Given the description of an element on the screen output the (x, y) to click on. 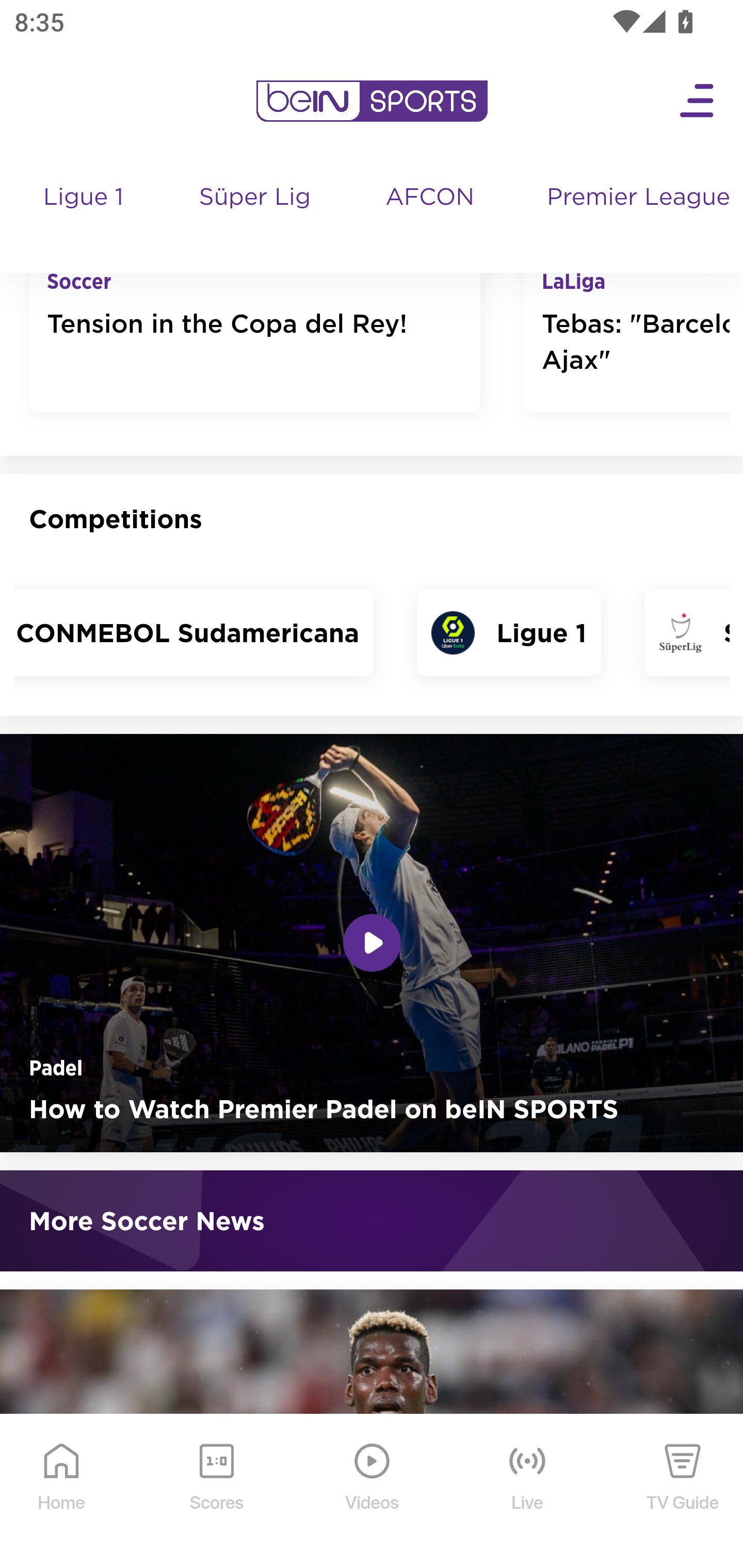
en-us?platform=mobile_android bein logo (371, 101)
Open Menu Icon (697, 101)
Ligue 1 (84, 216)
Süper Lig (256, 216)
AFCON (429, 198)
Premier League (637, 198)
CONMEBOL Sudamericana (194, 632)
Ligue 1 Ligue 1 Ligue 1 (508, 632)
Home Home Icon Home (61, 1491)
Scores Scores Icon Scores (216, 1491)
Videos Videos Icon Videos (372, 1491)
TV Guide TV Guide Icon TV Guide (682, 1491)
